Given the description of an element on the screen output the (x, y) to click on. 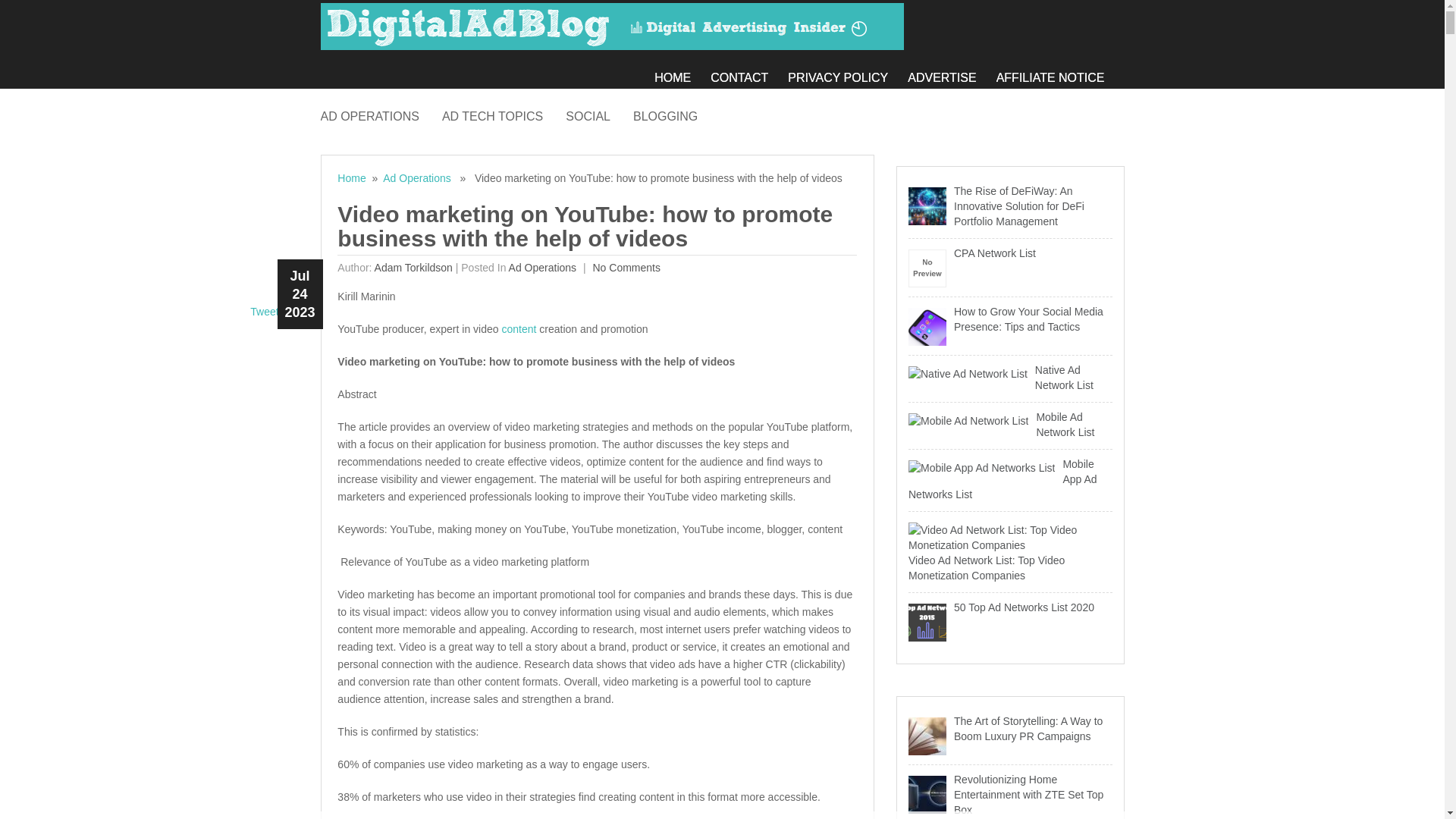
Adam Torkildson (413, 267)
BLOGGING (676, 113)
ADVERTISE (951, 72)
Video Ad Network List: Top Video Monetization Companies (1010, 550)
Home (351, 177)
HOME (681, 72)
SOCIAL (599, 113)
Ad Operations (416, 177)
PRIVACY POLICY (847, 72)
Tweet (264, 311)
Mobile Ad Network List (1010, 424)
Posts by Adam Torkildson (413, 267)
Native Ad Network List (1010, 377)
AFFILIATE NOTICE (1059, 72)
How to Grow Your Social Media Presence: Tips and Tactics (1010, 318)
